Given the description of an element on the screen output the (x, y) to click on. 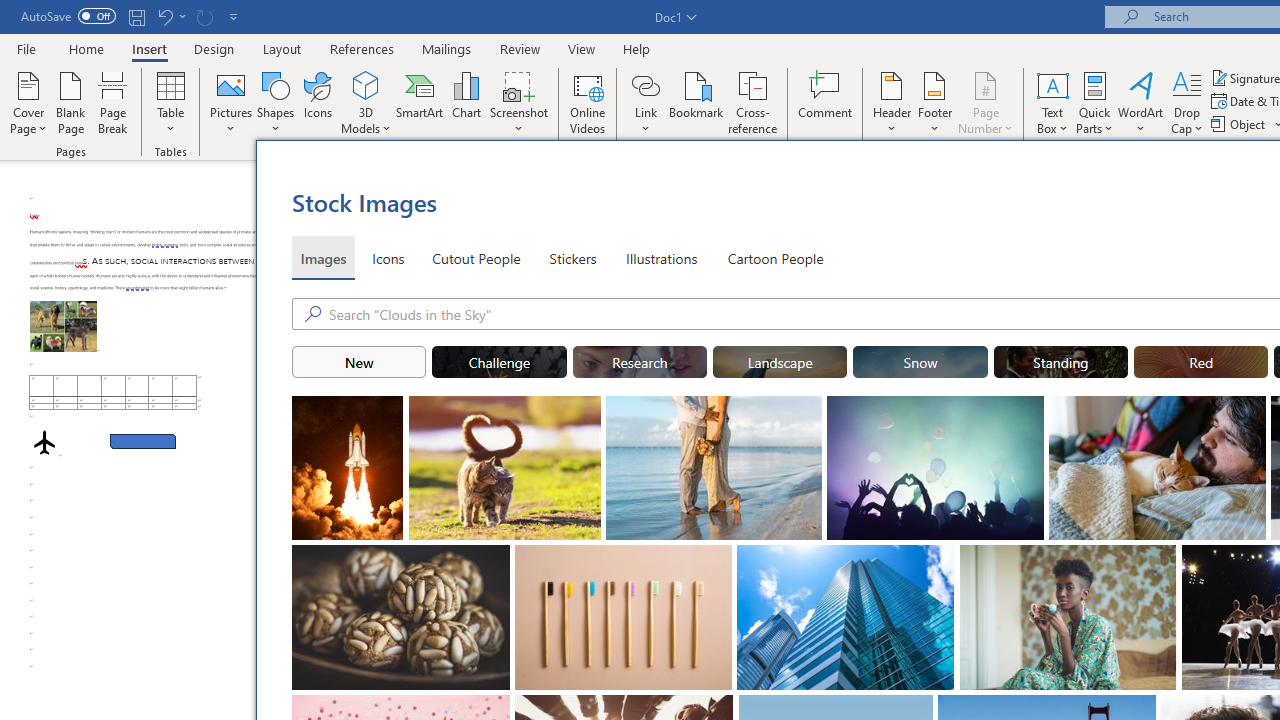
Images (322, 258)
Undo Apply Quick Style Set (164, 15)
Bookmark... (695, 102)
Table (170, 102)
Insert (149, 48)
Morphological variation in six dogs (63, 326)
SmartArt... (419, 102)
Quick Access Toolbar (131, 16)
Comment (825, 102)
Rectangle: Diagonal Corners Snipped 2 (143, 441)
Header (891, 102)
Footer (934, 102)
